Given the description of an element on the screen output the (x, y) to click on. 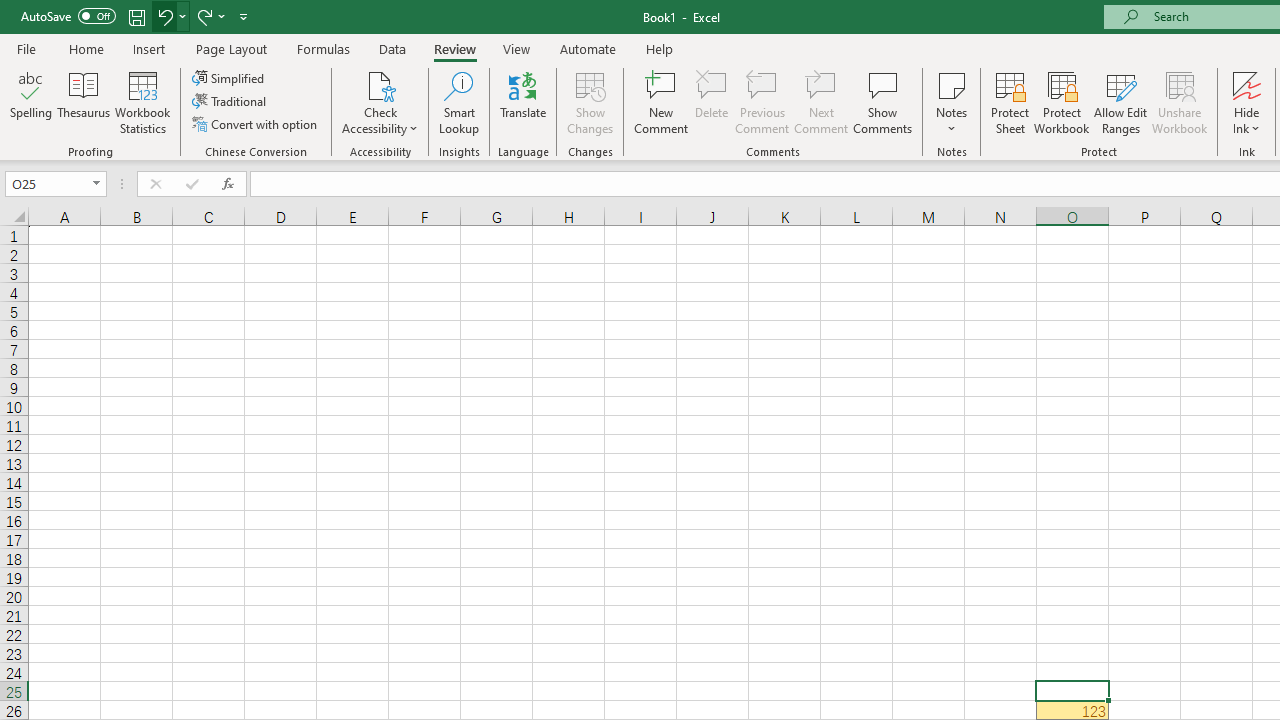
Protect Sheet... (1010, 102)
Convert with option (256, 124)
Workbook Statistics (142, 102)
Notes (951, 102)
